Given the description of an element on the screen output the (x, y) to click on. 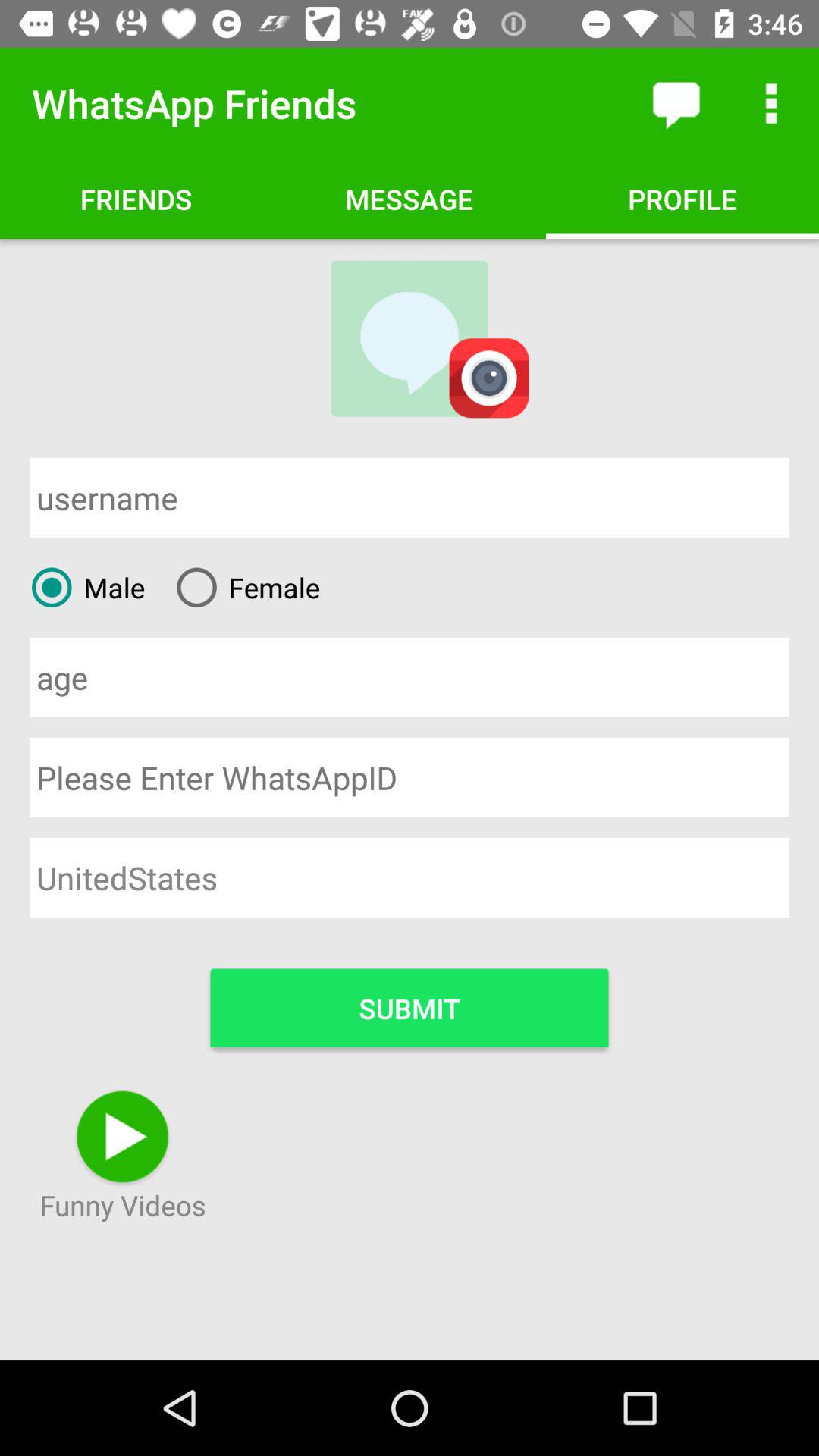
launch the unitedstates icon (409, 877)
